Given the description of an element on the screen output the (x, y) to click on. 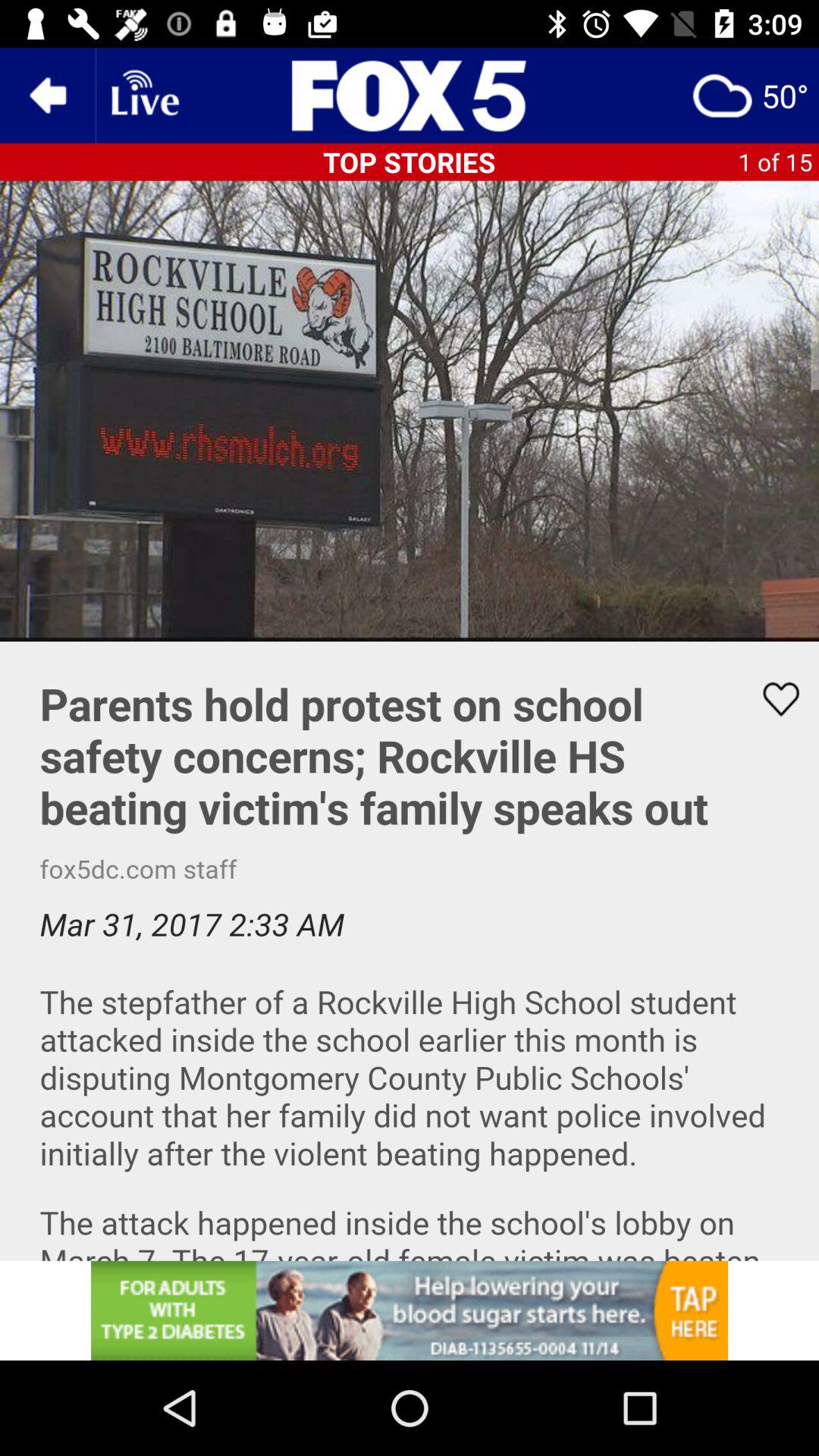
go to previous button (47, 95)
